Given the description of an element on the screen output the (x, y) to click on. 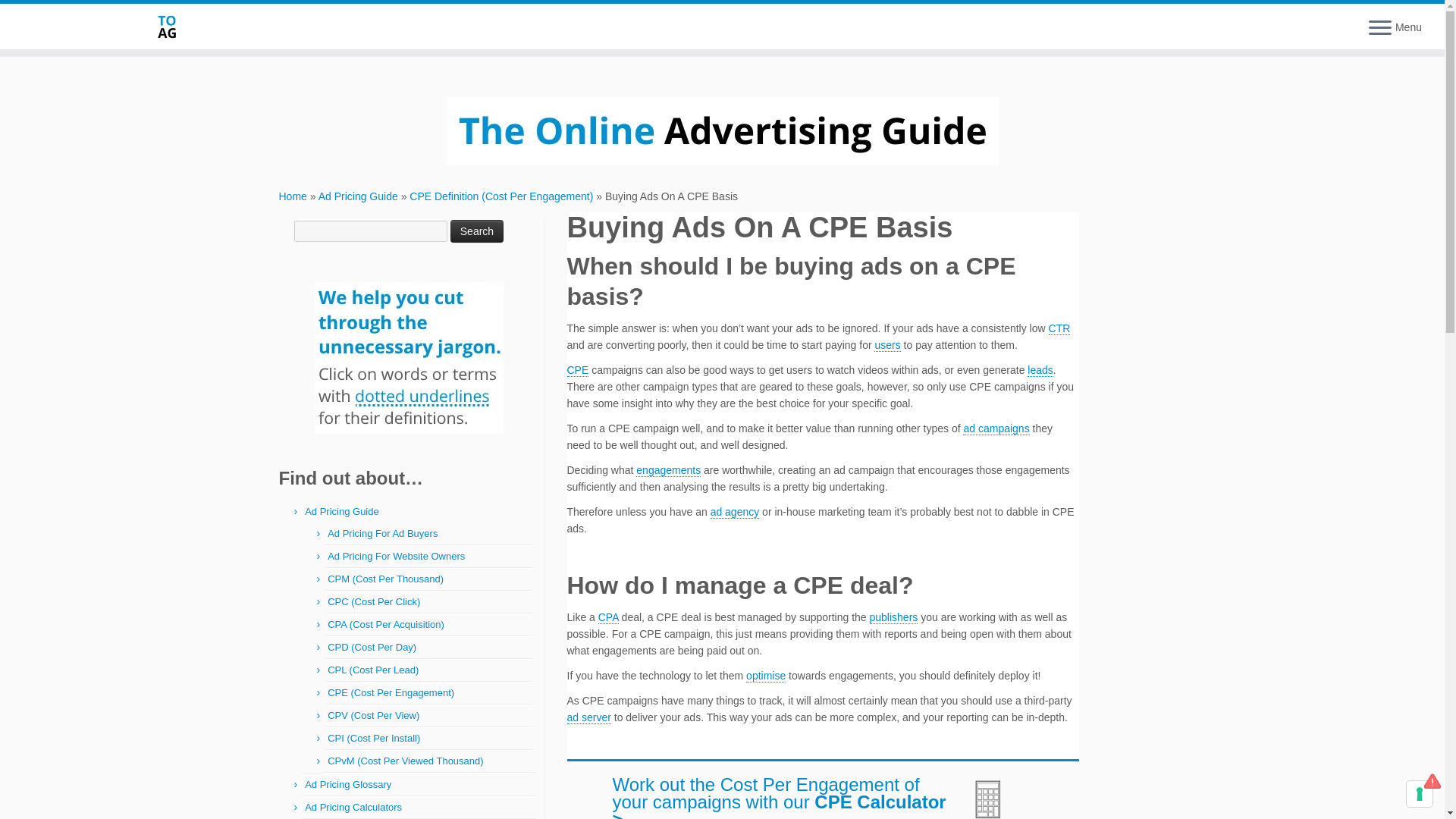
Glossary: Ad Campaign (995, 428)
Ad Pricing Guide (357, 196)
Ad Pricing For Ad Buyers (382, 532)
Ad Pricing Guide (341, 511)
Home (293, 196)
leads (1039, 369)
Search (476, 231)
Glossary: Engagement (668, 470)
Ad Pricing Guide (357, 196)
Glossary: CPE (578, 369)
Ad Pricing Glossary (347, 784)
Ad Pricing For Website Owners (395, 555)
Glossary: Ad Agency (735, 512)
ad campaigns (995, 428)
Glossary: Optimising (765, 675)
